Given the description of an element on the screen output the (x, y) to click on. 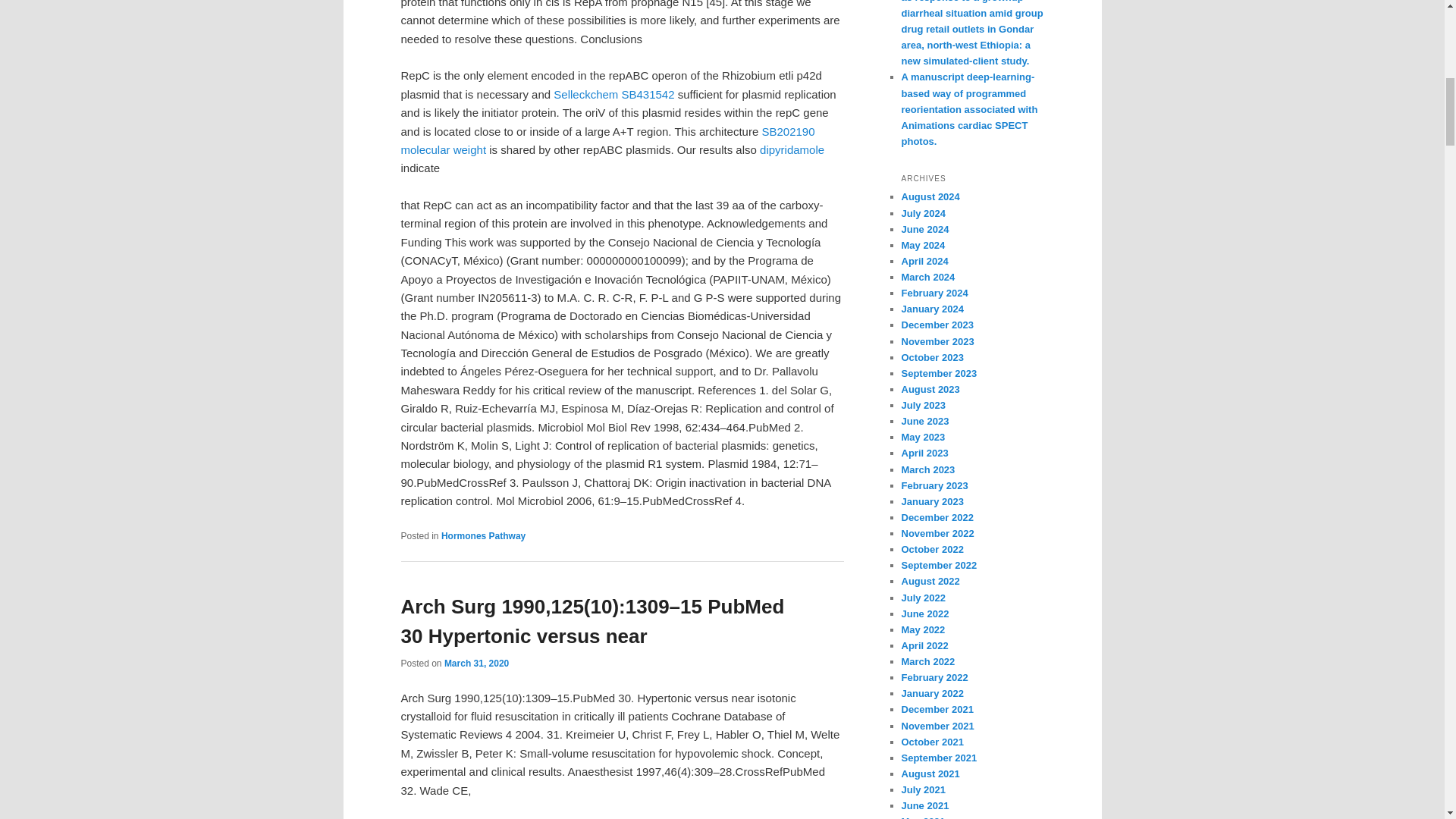
dipyridamole (792, 149)
March 31, 2020 (476, 663)
View all posts in Hormones Pathway (483, 535)
SB202190 molecular weight (606, 140)
Selleckchem SB431542 (613, 93)
3:13 am (476, 663)
Hormones Pathway (483, 535)
